Given the description of an element on the screen output the (x, y) to click on. 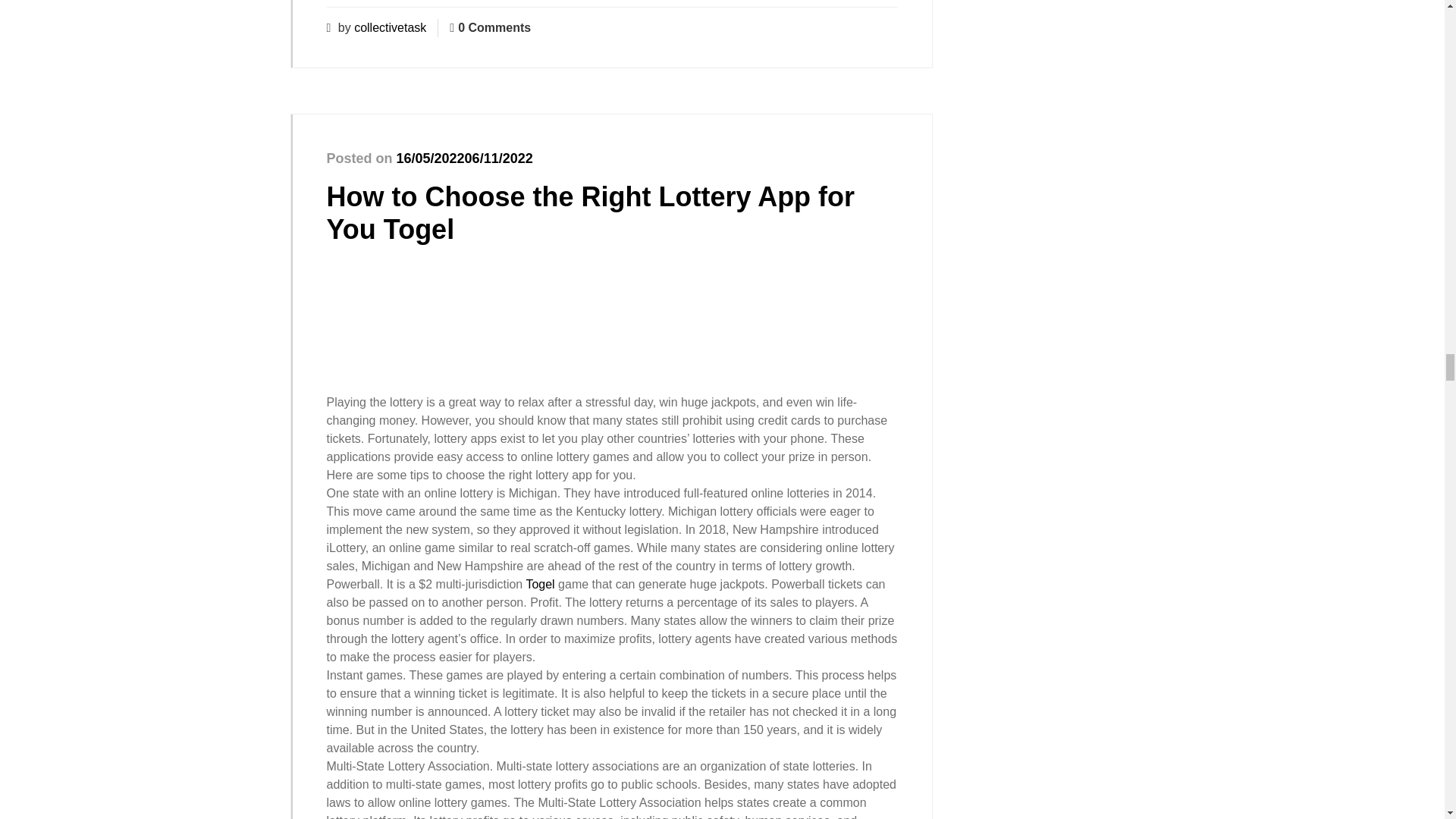
collectivetask (389, 27)
How to Choose the Right Lottery App for You Togel (590, 212)
Togel (539, 584)
